Given the description of an element on the screen output the (x, y) to click on. 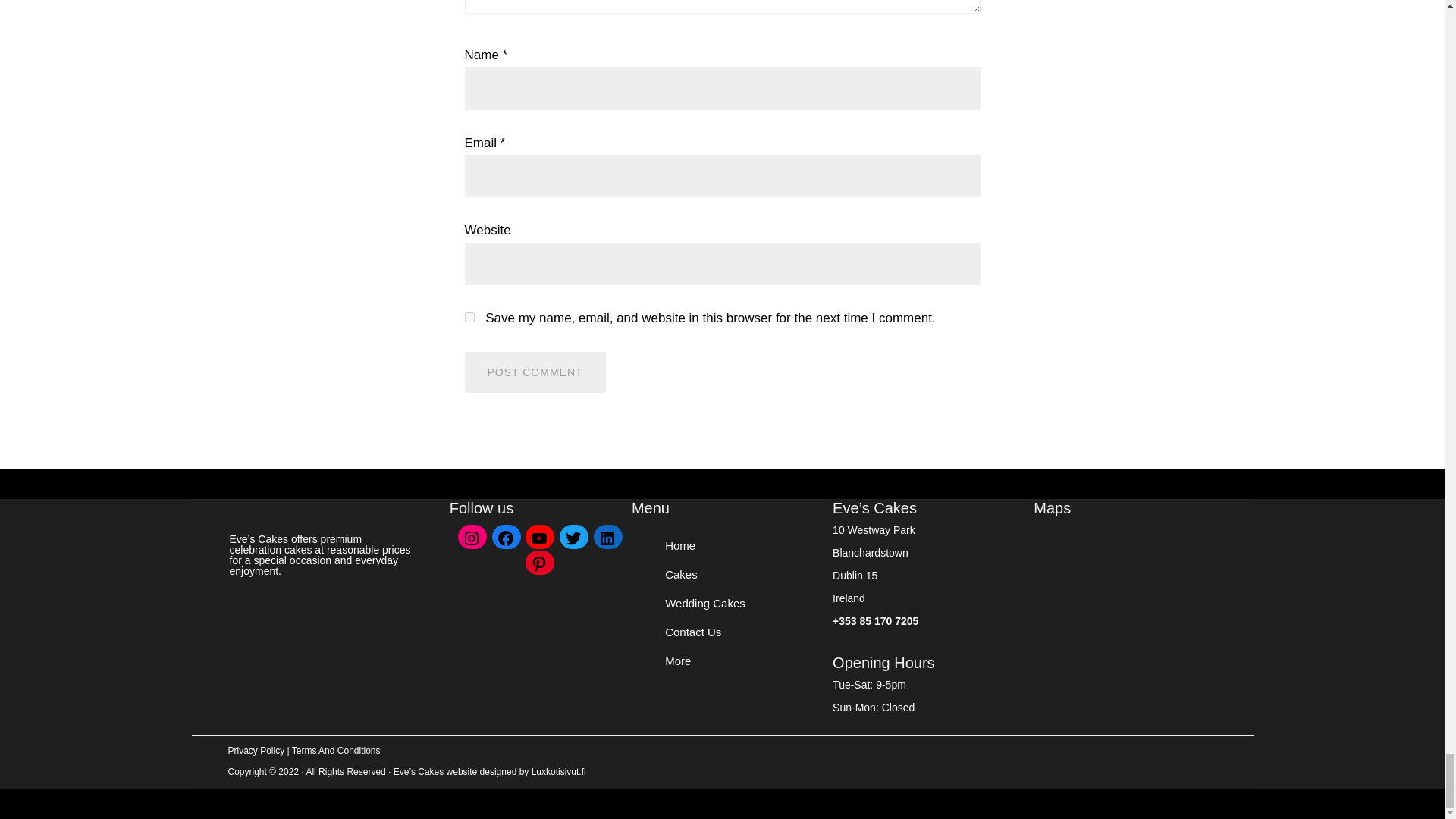
Post Comment (534, 372)
yes (469, 317)
